Given the description of an element on the screen output the (x, y) to click on. 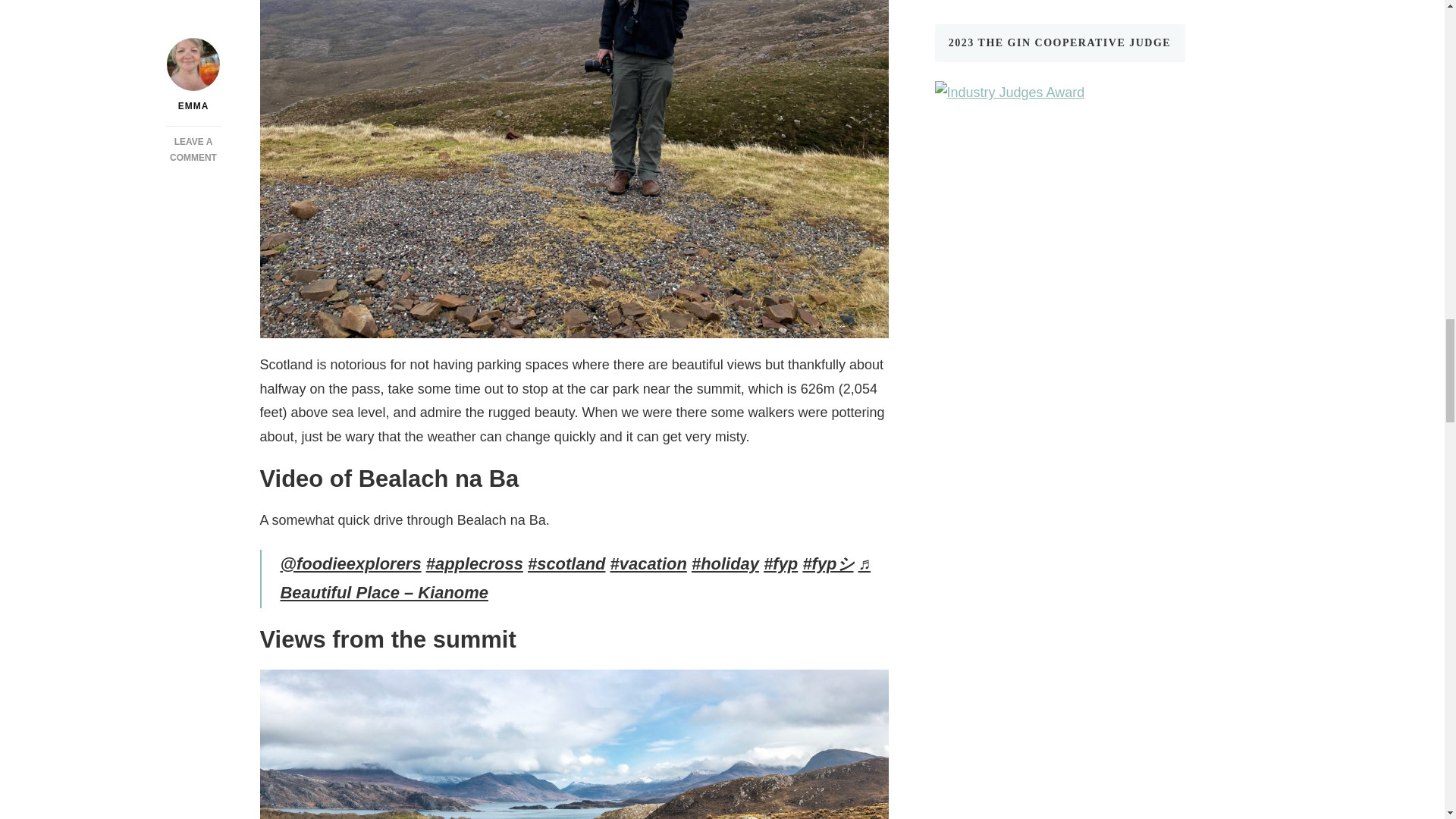
scotland (566, 563)
vacation (648, 563)
holiday (724, 563)
fyp (779, 563)
applecross (474, 563)
